Given the description of an element on the screen output the (x, y) to click on. 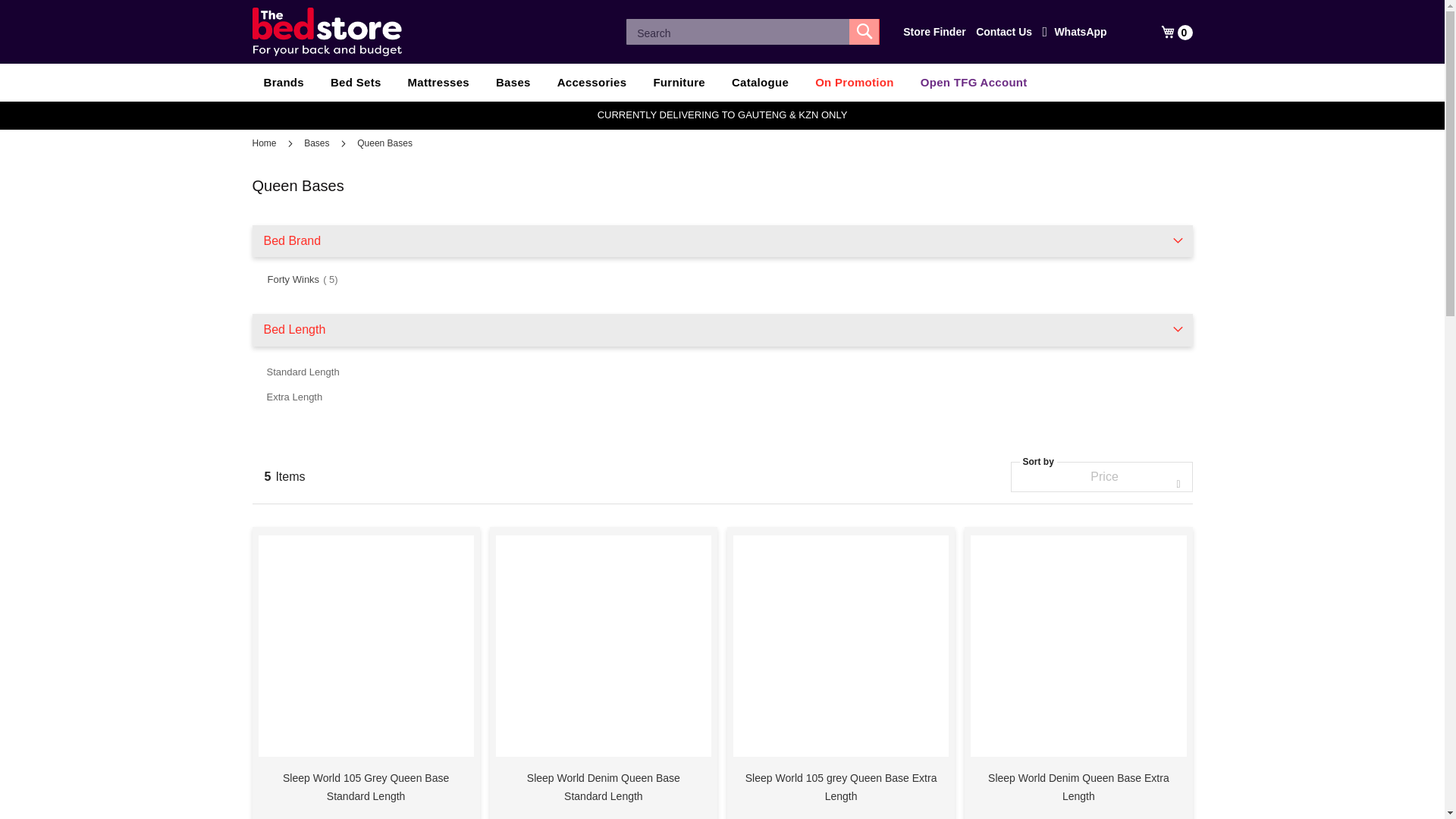
The Bed Store (326, 31)
WhatsApp (1074, 31)
Brands (282, 82)
Bed Sets (355, 82)
Contact Us (1003, 31)
My Cart (1176, 31)
Bed Sets (355, 82)
Store Finder (933, 31)
Brands (282, 82)
